Given the description of an element on the screen output the (x, y) to click on. 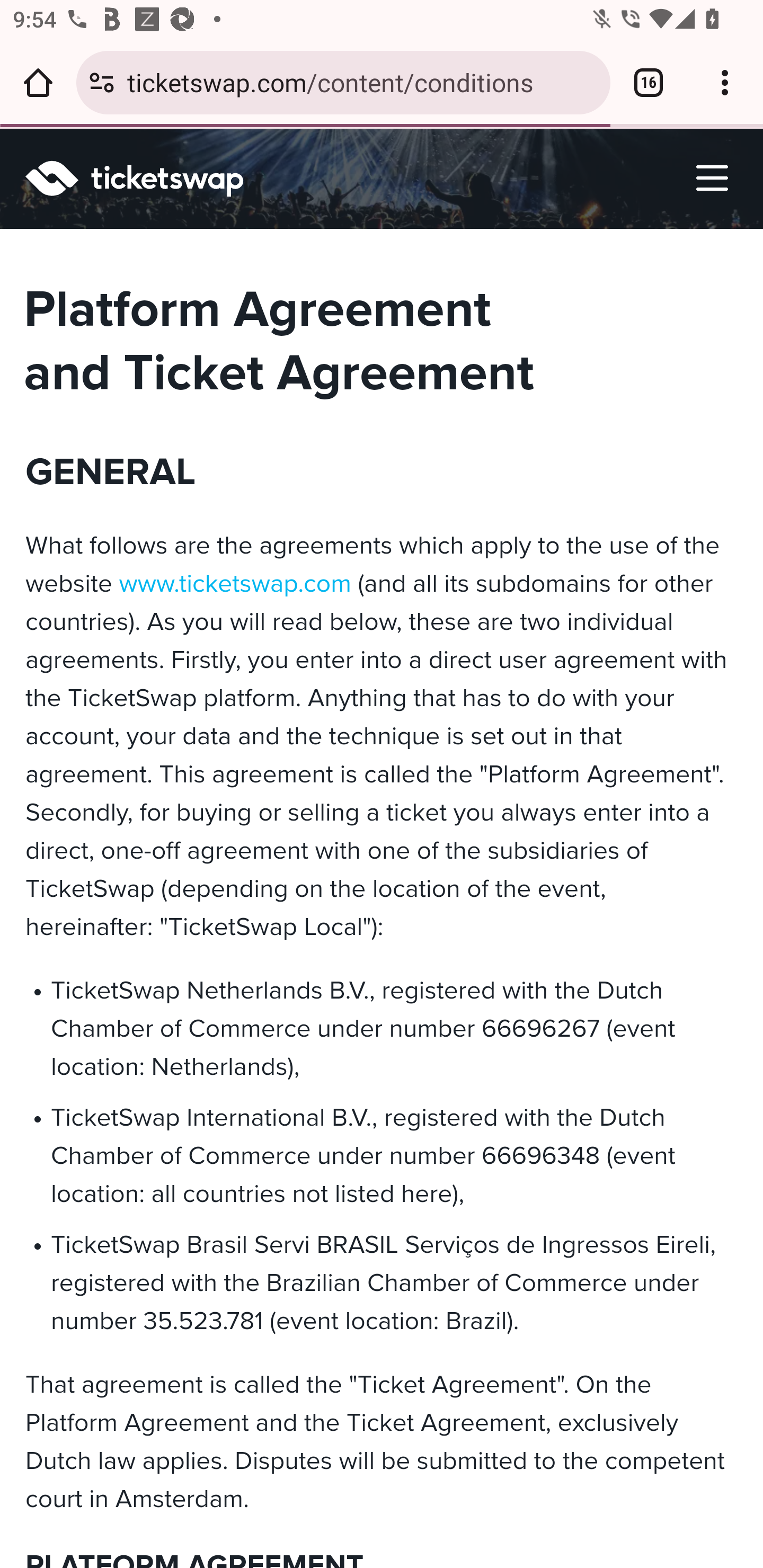
Open the home page (38, 82)
Connection is secure (101, 82)
Switch or close tabs (648, 82)
Customize and control Google Chrome (724, 82)
ticketswap.com/content/conditions (362, 82)
ListAlt (711, 177)
Homepage (146, 177)
 www.ticketswap.com   www.ticketswap.com (231, 584)
